Given the description of an element on the screen output the (x, y) to click on. 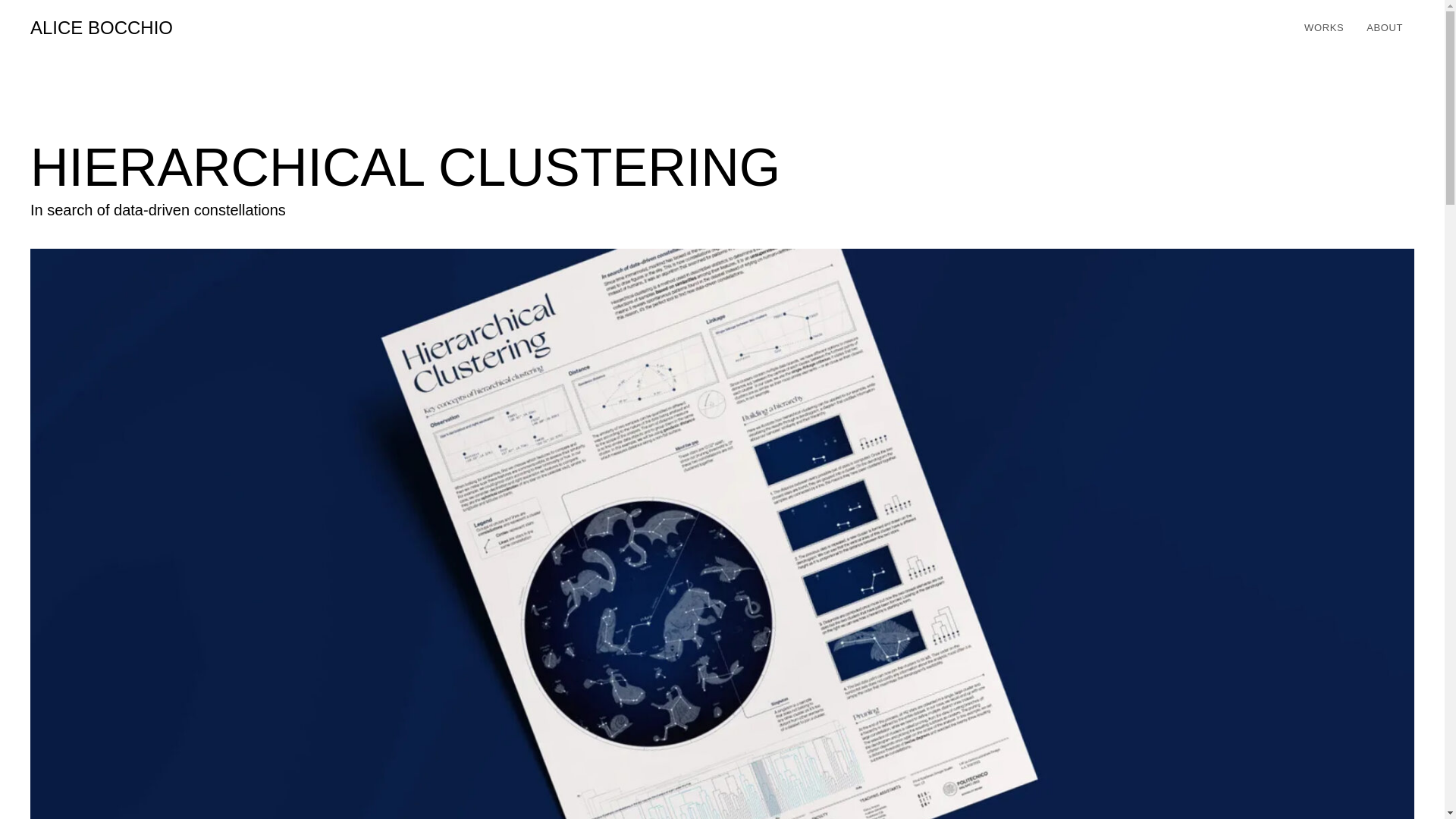
ALICE BOCCHIO (101, 27)
ABOUT (1384, 28)
WORKS (1323, 28)
